Given the description of an element on the screen output the (x, y) to click on. 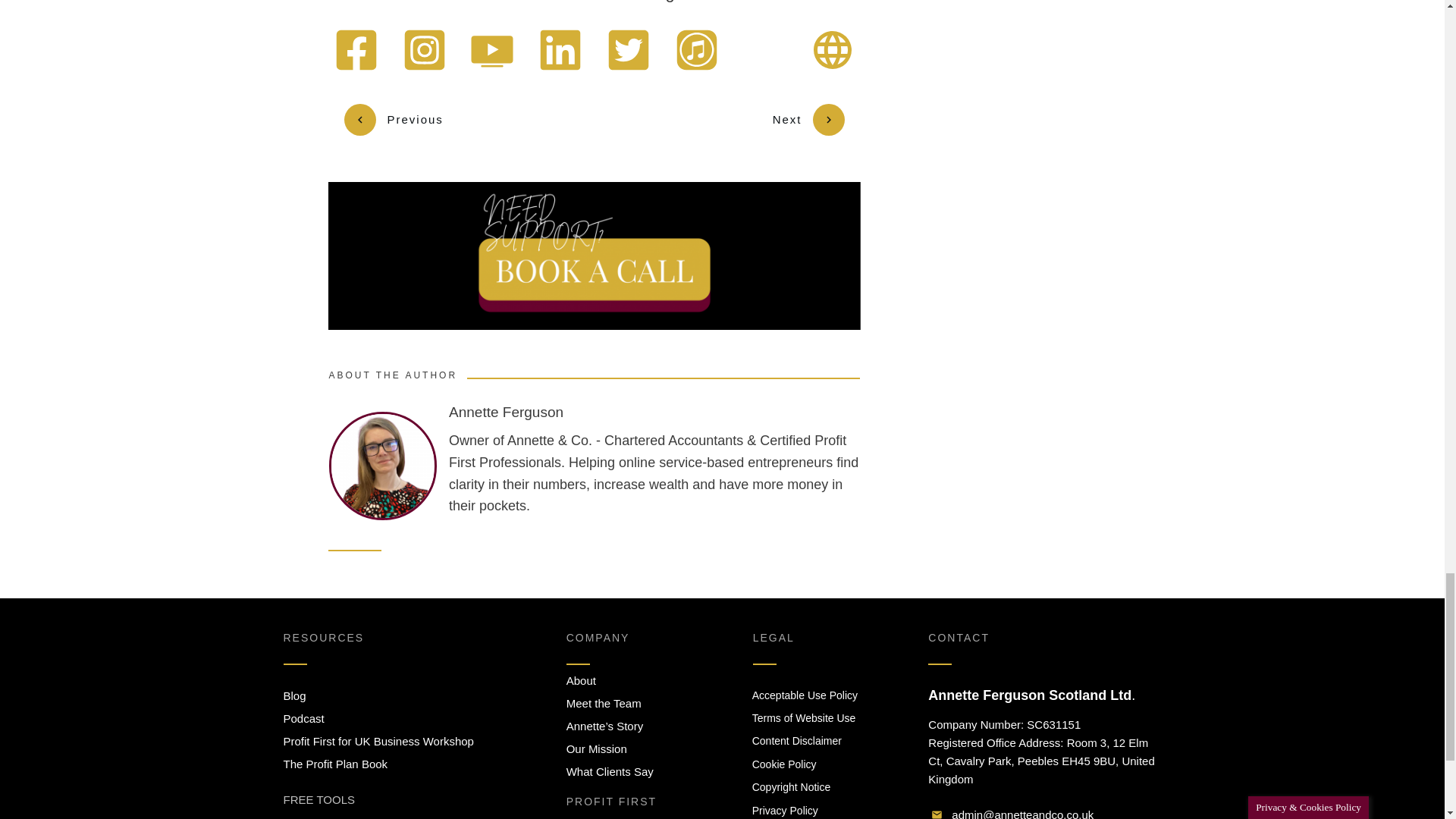
book a call button (593, 255)
